Given the description of an element on the screen output the (x, y) to click on. 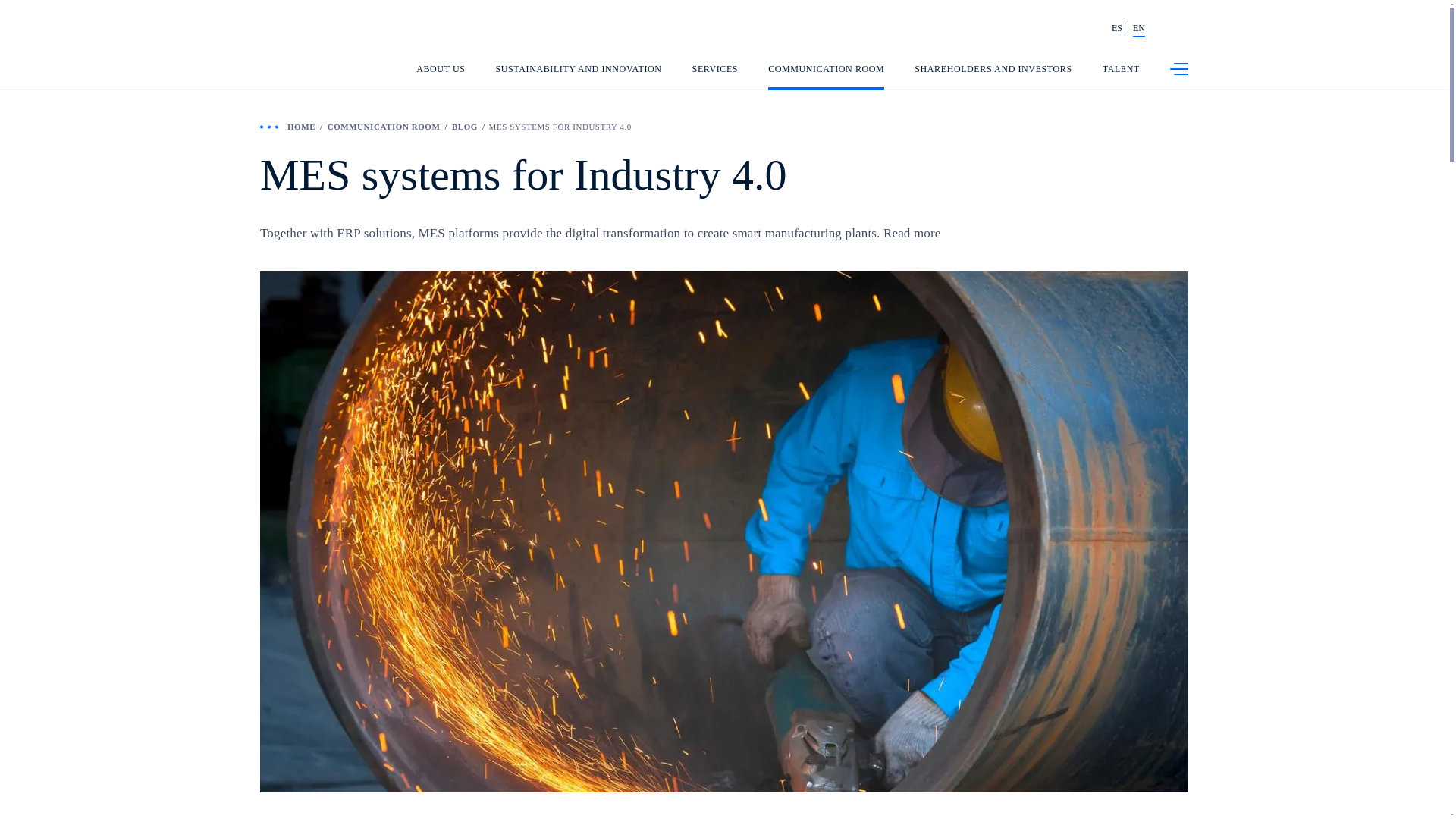
ABOUT US (440, 76)
EN (1138, 29)
SUSTAINABILITY AND INNOVATION (579, 76)
Info BME (1005, 28)
